Given the description of an element on the screen output the (x, y) to click on. 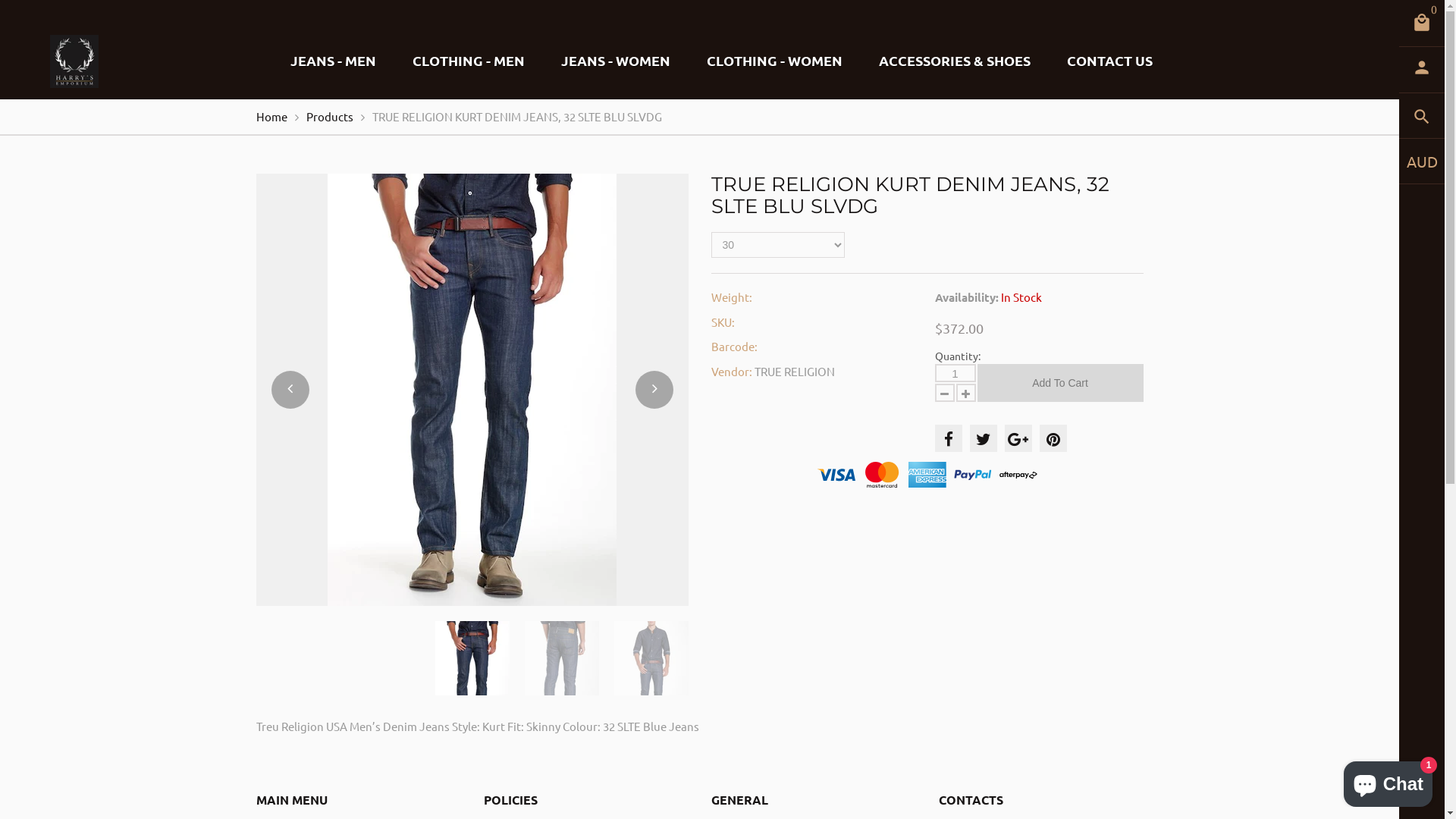
Share Element type: hover (982, 437)
JEANS - WOMEN Element type: text (615, 60)
Home Element type: text (271, 116)
Share Element type: hover (947, 437)
CLOTHING - WOMEN Element type: text (774, 60)
Products Element type: text (329, 116)
Share Element type: hover (1052, 437)
CONTACT US Element type: text (1109, 60)
ACCESSORIES & SHOES Element type: text (954, 60)
CLOTHING - MEN Element type: text (468, 60)
Share Element type: hover (1017, 437)
Add To Cart Element type: text (1059, 382)
Shopify online store chat Element type: hover (1388, 780)
JEANS - MEN Element type: text (333, 60)
